Given the description of an element on the screen output the (x, y) to click on. 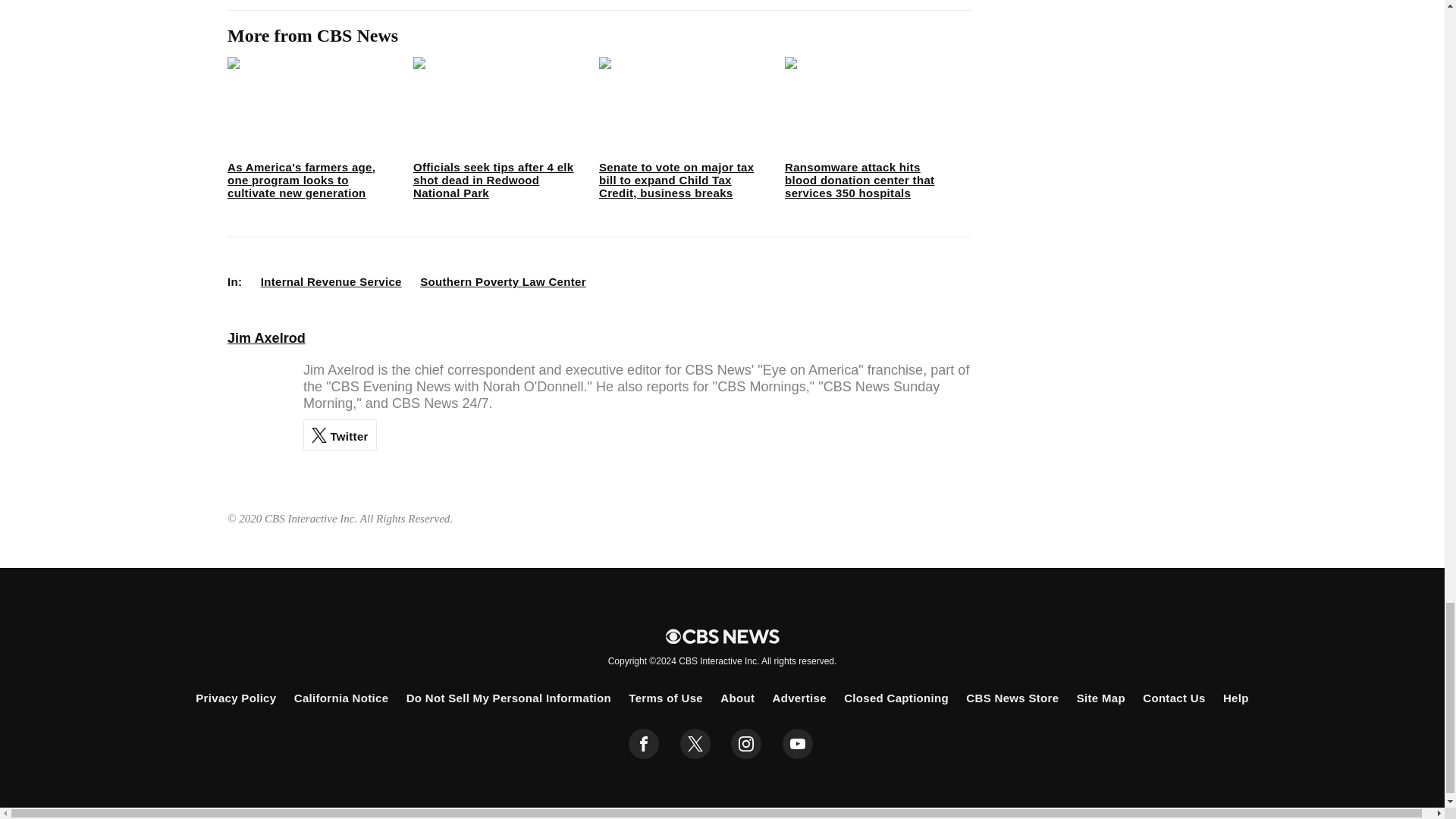
youtube (797, 743)
instagram (745, 743)
twitter (694, 743)
facebook (643, 743)
